Given the description of an element on the screen output the (x, y) to click on. 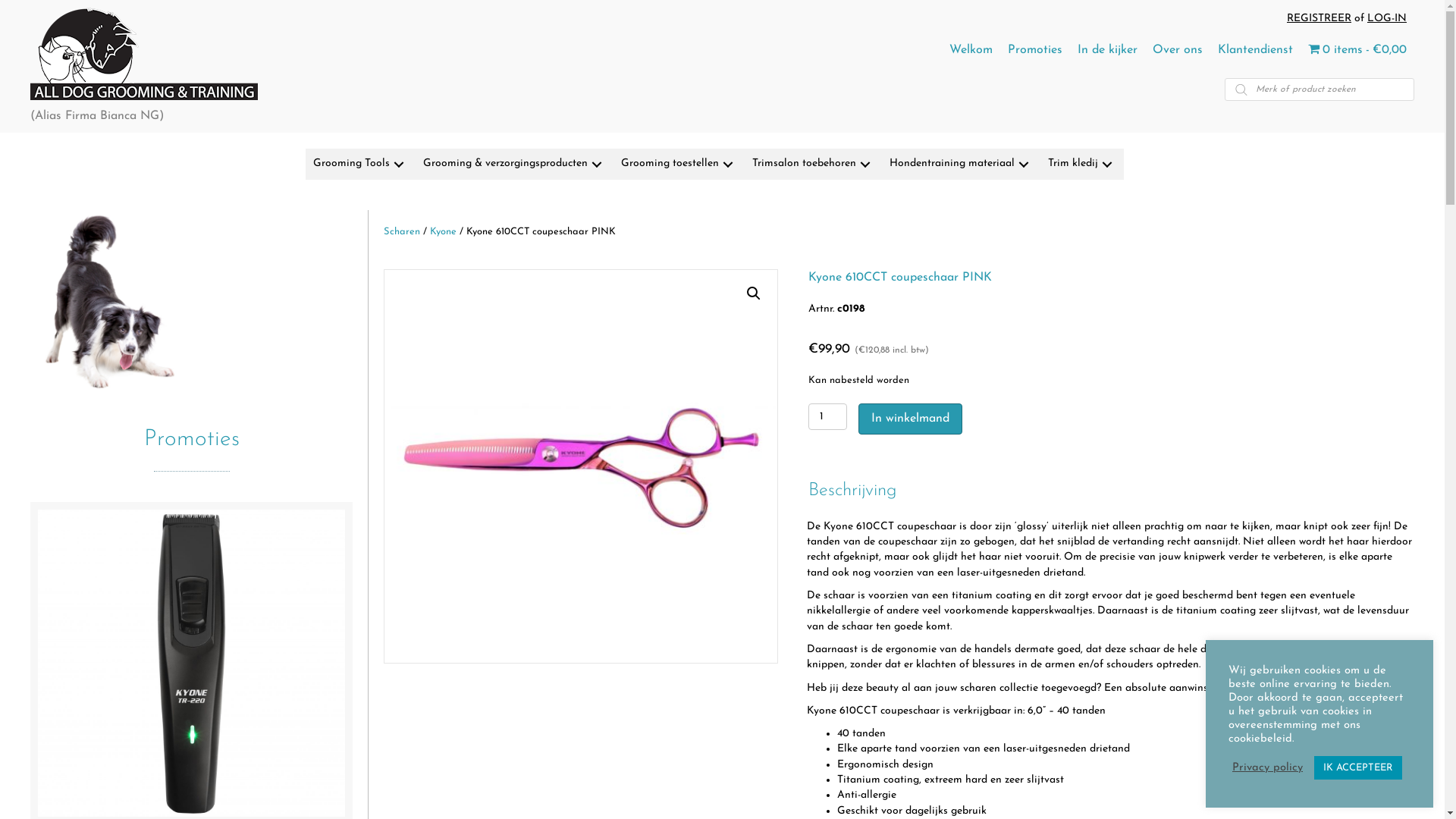
Hondentraining materiaal Element type: text (960, 163)
All Dog Grooming & Training Element type: hover (143, 53)
Privacy policy Element type: text (1267, 768)
Trim kledij Element type: text (1081, 163)
Over ons Element type: text (1177, 50)
Scharen Element type: text (401, 231)
iStock-505372604-resized Element type: hover (191, 301)
REGISTREER Element type: text (1318, 18)
c0198 - Kyone 610CCT coupeschaar PINK Element type: hover (580, 466)
IK ACCEPTEER Element type: text (1358, 767)
Klantendienst Element type: text (1255, 50)
Trimsalon toebehoren Element type: text (812, 163)
LOG-IN Element type: text (1386, 18)
Kyone Element type: text (442, 231)
In de kijker Element type: text (1107, 50)
c7028 - Kyone trimmer TR 220 Element type: hover (191, 662)
In winkelmand Element type: text (910, 418)
Welkom Element type: text (970, 50)
Grooming & verzorgingsproducten Element type: text (514, 163)
Promoties Element type: text (1035, 50)
Grooming Tools Element type: text (360, 163)
Grooming toestellen Element type: text (678, 163)
